Given the description of an element on the screen output the (x, y) to click on. 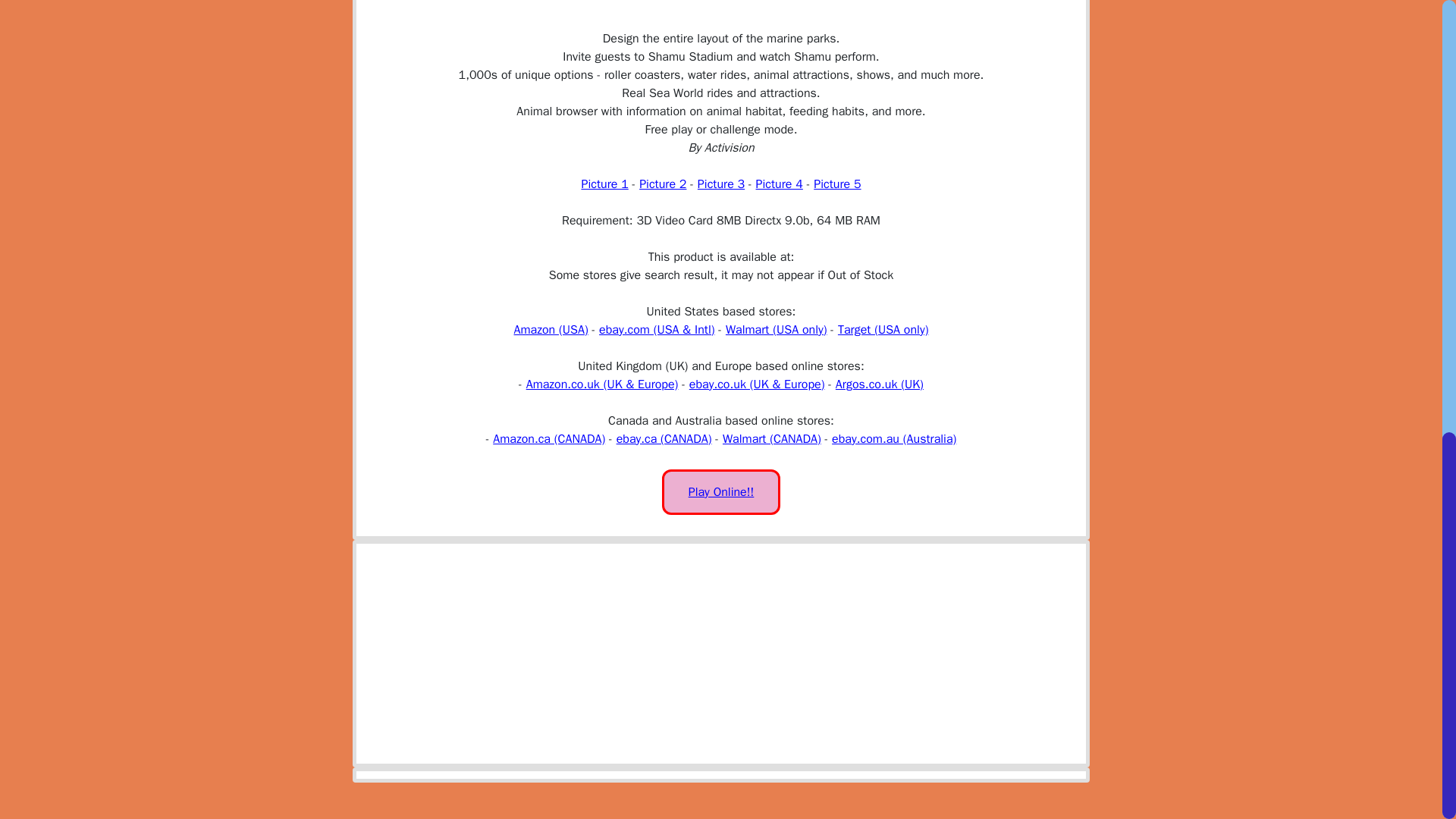
Sea World Park Rollercoaster (603, 183)
SeaWorld Adventure Parks Tycoon 4 (779, 183)
Seaworld Park water attractions (720, 183)
Seaworld dolphins show (662, 183)
SeaWorld Parks Tycoon dolphins habitat (836, 183)
